Given the description of an element on the screen output the (x, y) to click on. 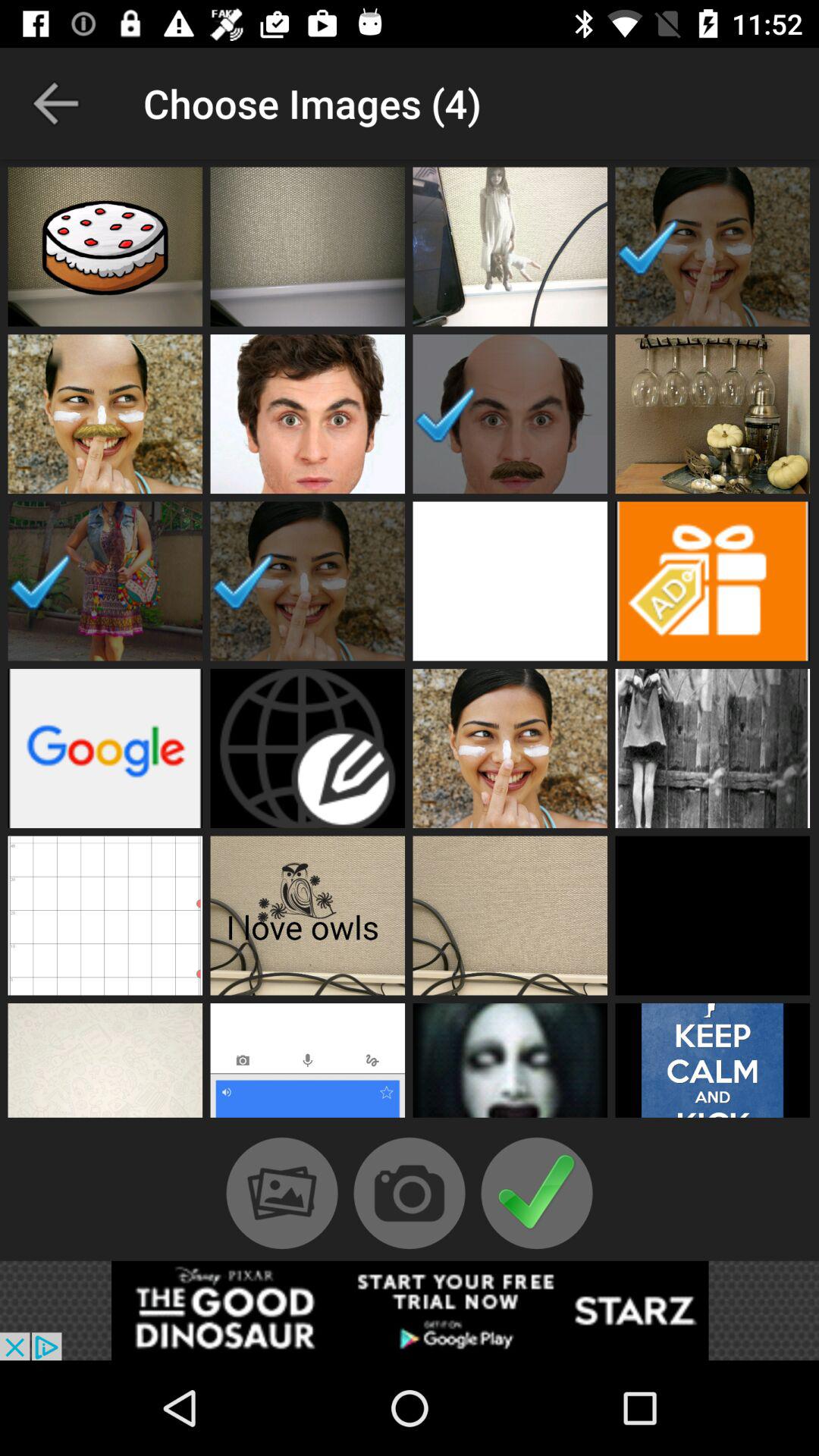
open image (307, 748)
